Given the description of an element on the screen output the (x, y) to click on. 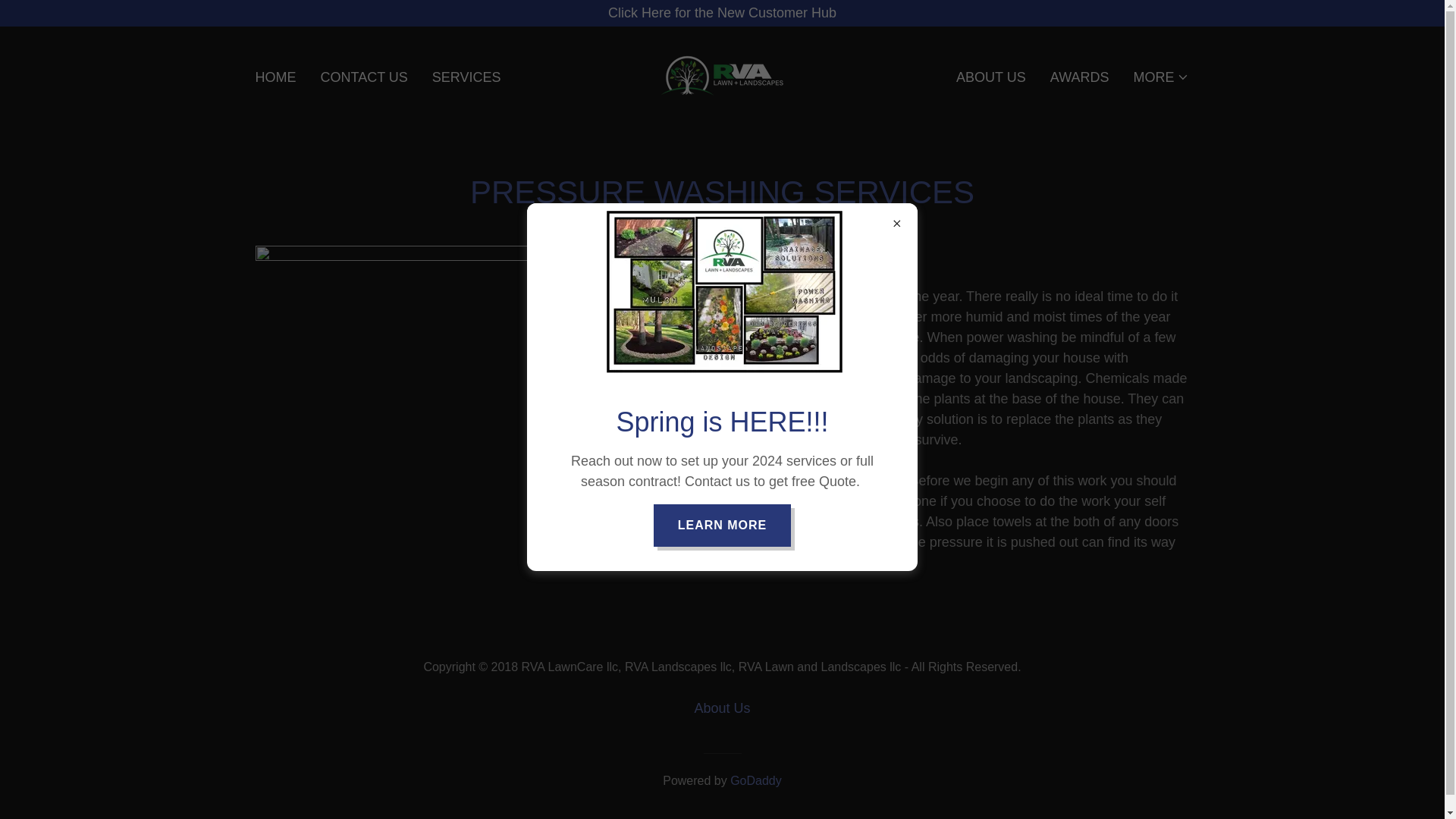
AWARDS (1079, 76)
About Us (721, 708)
SERVICES (466, 76)
HOME (274, 76)
LEARN MORE (722, 524)
MORE (1160, 76)
RVA LawnCare (722, 76)
GoDaddy (755, 780)
ABOUT US (991, 76)
CONTACT US (363, 76)
